Given the description of an element on the screen output the (x, y) to click on. 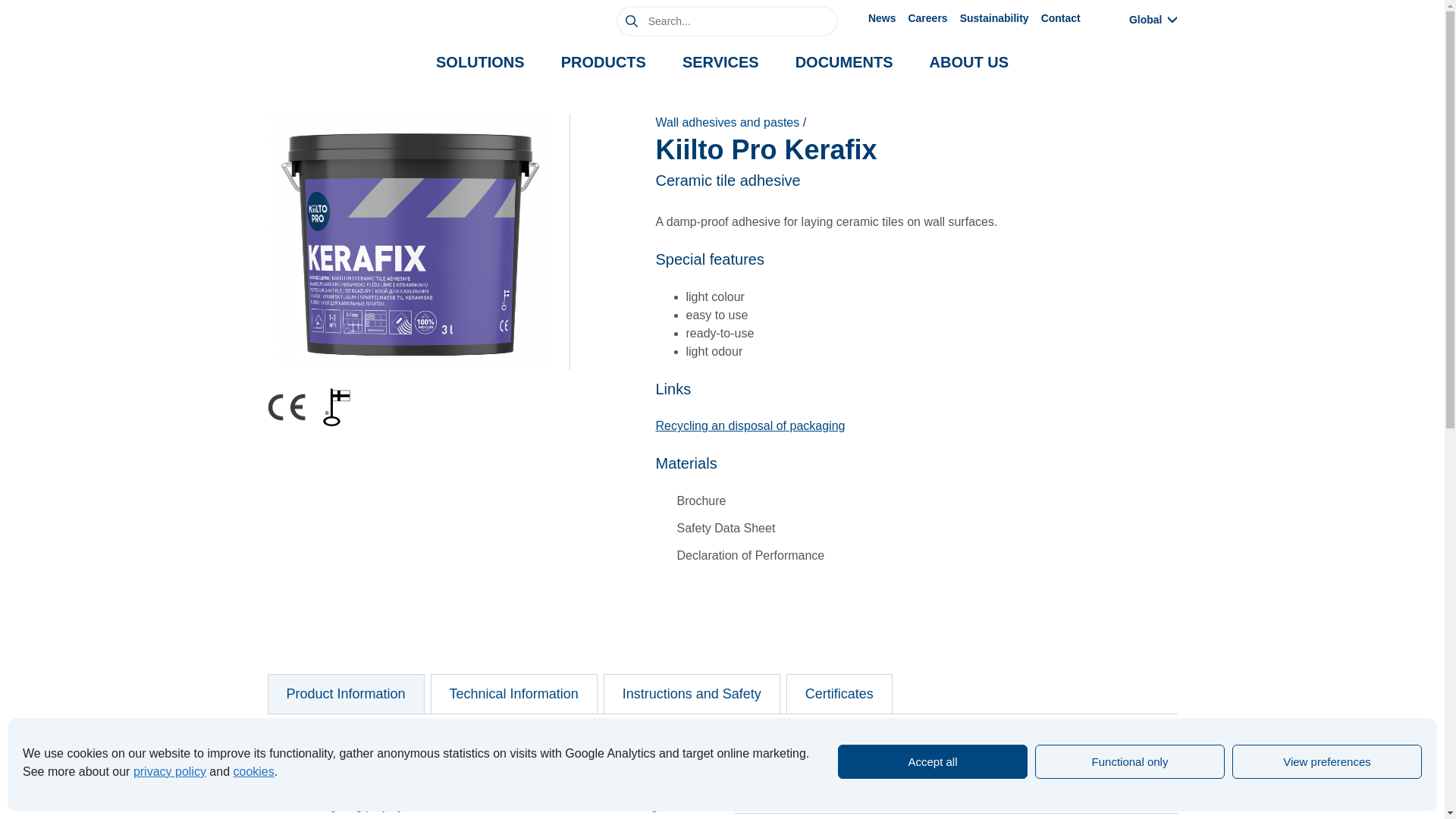
cookies (253, 771)
Functional only (1129, 761)
Accept all (932, 761)
View preferences (1326, 761)
privacy policy (169, 771)
Search for: (726, 20)
